Given the description of an element on the screen output the (x, y) to click on. 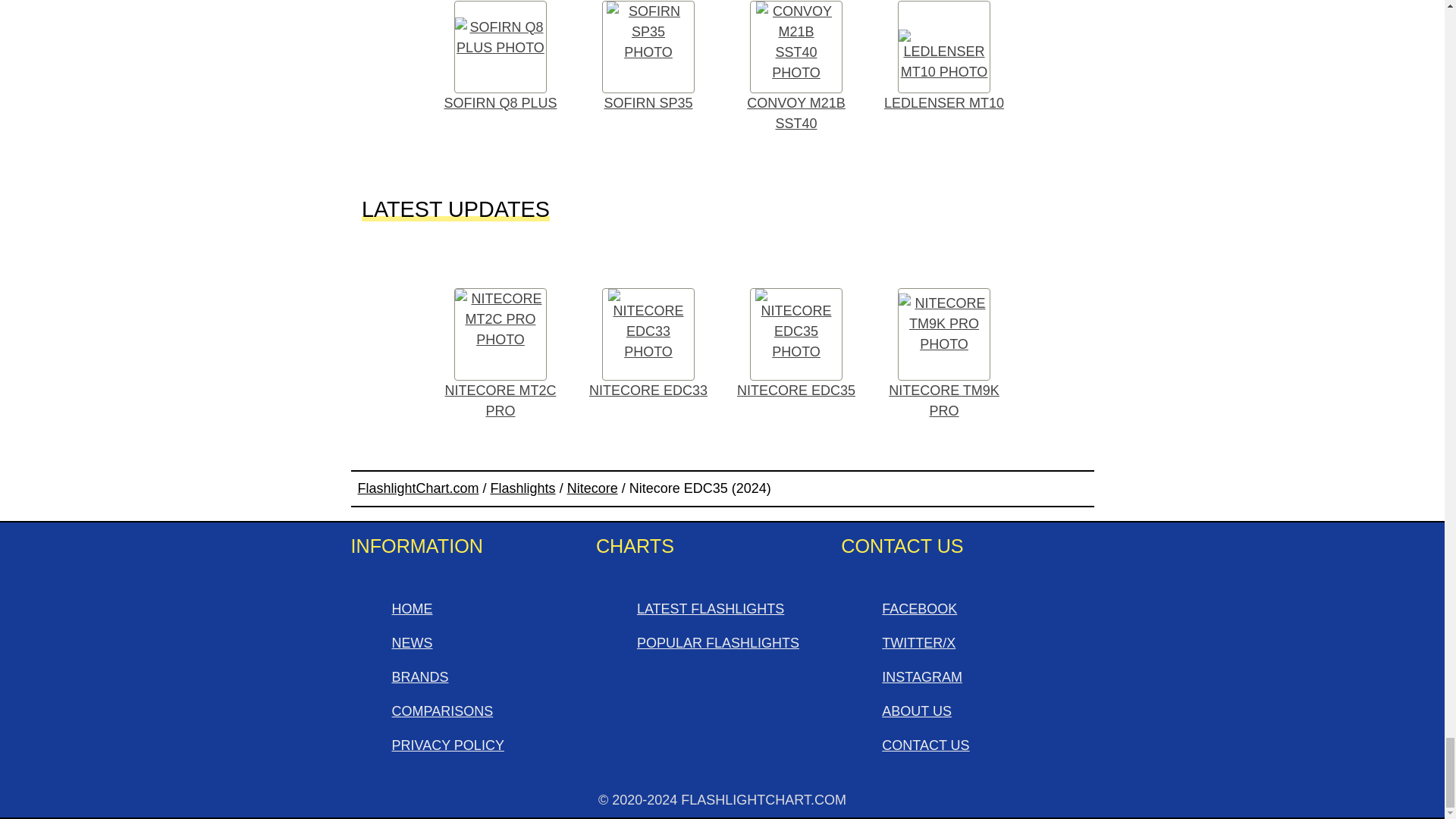
ABOUT US (917, 711)
POPULAR FLASHLIGHTS (718, 642)
Flashlights (523, 488)
NITECORE TM9K PRO (944, 354)
NITECORE EDC33 (648, 344)
COMPARISONS (442, 711)
NITECORE MT2C PRO (500, 354)
FlashlightChart.com (418, 488)
LATEST FLASHLIGHTS (710, 608)
NITECORE EDC35 (795, 344)
SOFIRN Q8 PLUS (500, 60)
BRANDS (419, 676)
CONTACT US (925, 744)
FlashlightChart.com (418, 488)
CONVOY M21B SST40 (795, 70)
